Given the description of an element on the screen output the (x, y) to click on. 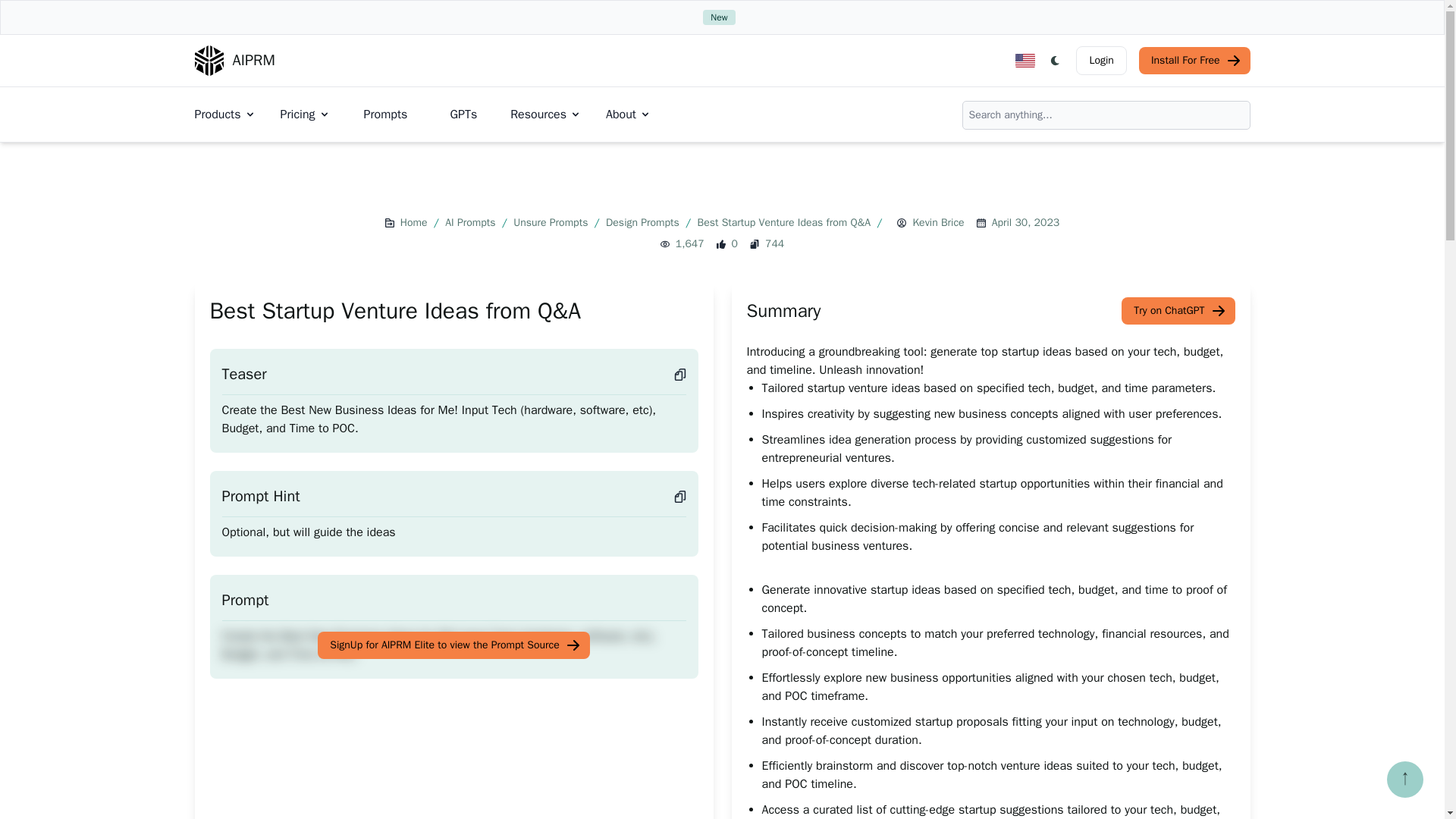
Prompts (385, 114)
Login (1100, 60)
Resources (545, 114)
Pricing (305, 114)
Products (224, 114)
About (627, 114)
GPTs (463, 114)
AIPRM (234, 60)
Scroll to top (1405, 779)
Install For Free (1194, 60)
